Given the description of an element on the screen output the (x, y) to click on. 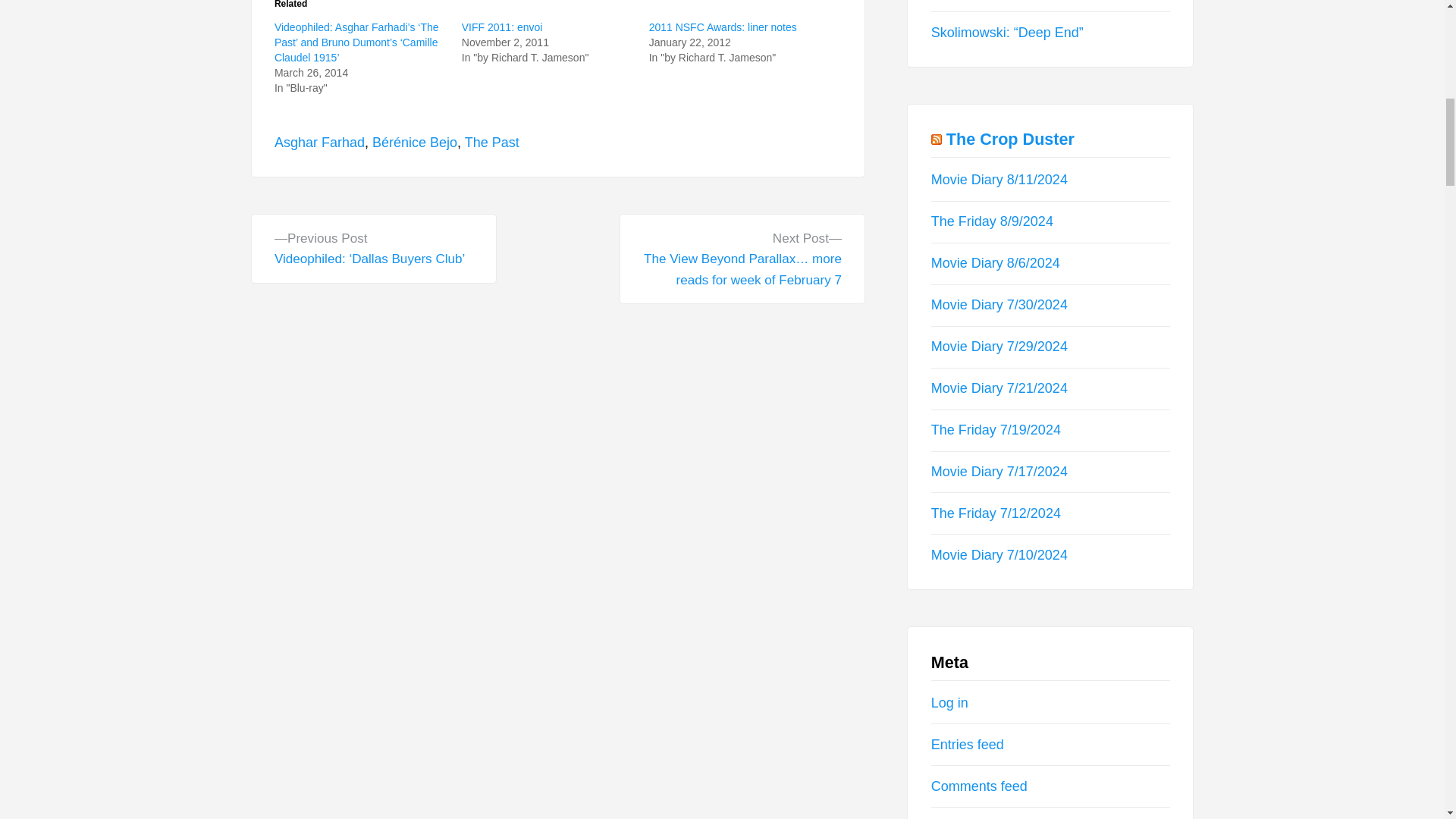
2011 NSFC Awards: liner notes (722, 27)
The Past (491, 142)
Asghar Farhad (320, 142)
2011 NSFC Awards: liner notes (722, 27)
VIFF 2011: envoi (502, 27)
VIFF 2011: envoi (502, 27)
